Given the description of an element on the screen output the (x, y) to click on. 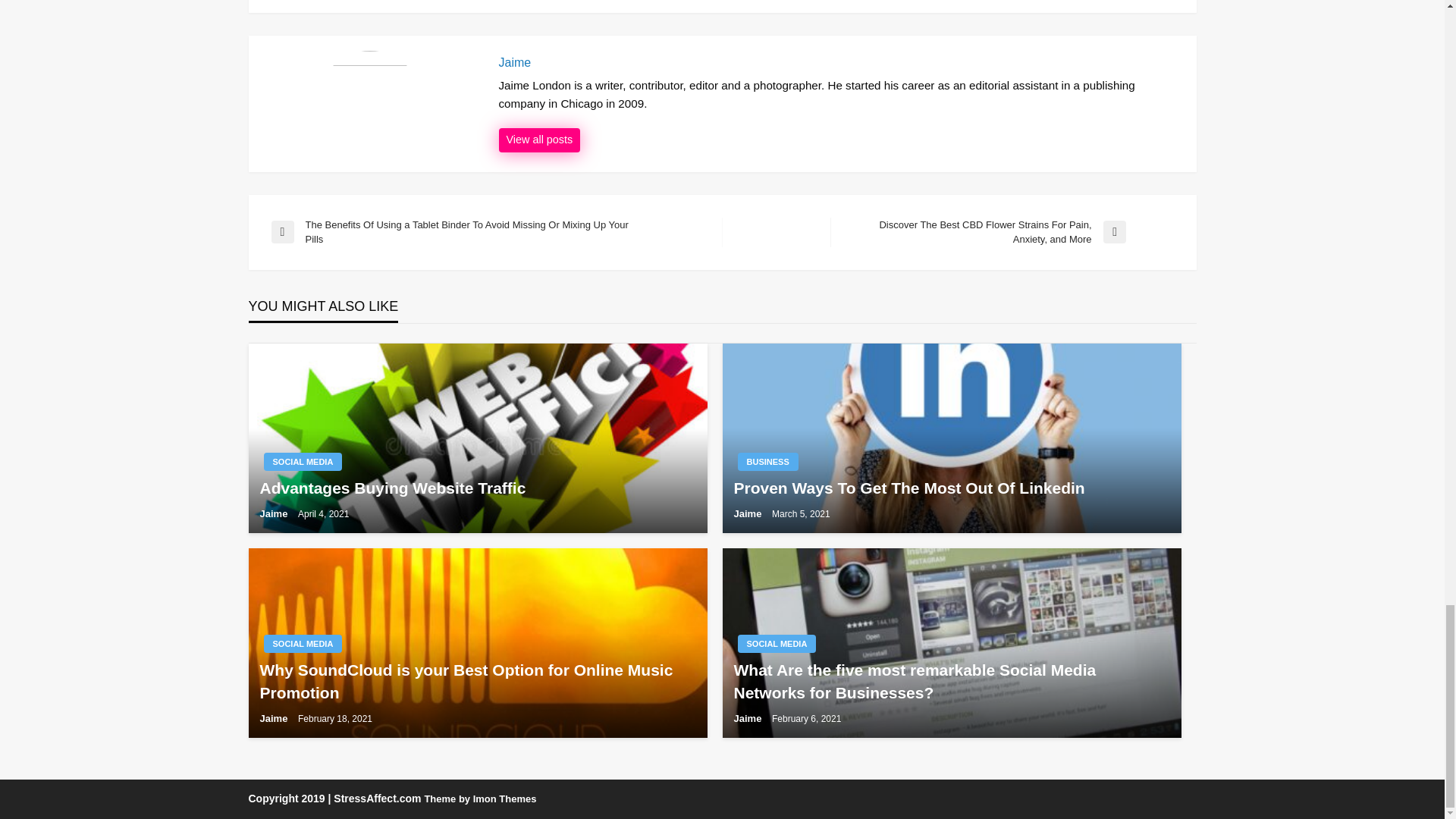
Jaime (839, 62)
View all posts (539, 139)
Jaime (539, 139)
Jaime (839, 62)
